Given the description of an element on the screen output the (x, y) to click on. 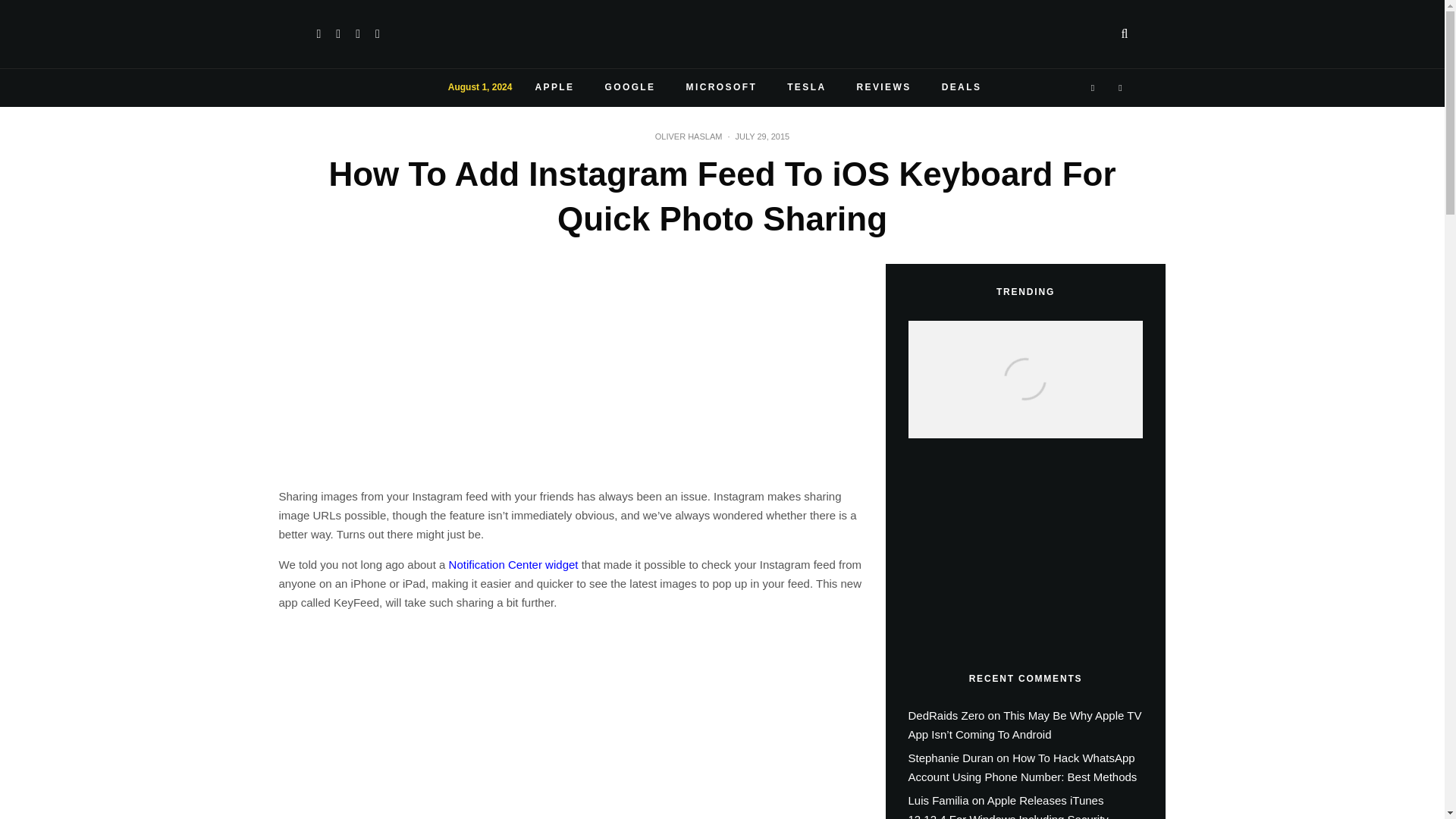
TESLA (806, 87)
MICROSOFT (722, 87)
APPLE (554, 87)
GOOGLE (629, 87)
